Given the description of an element on the screen output the (x, y) to click on. 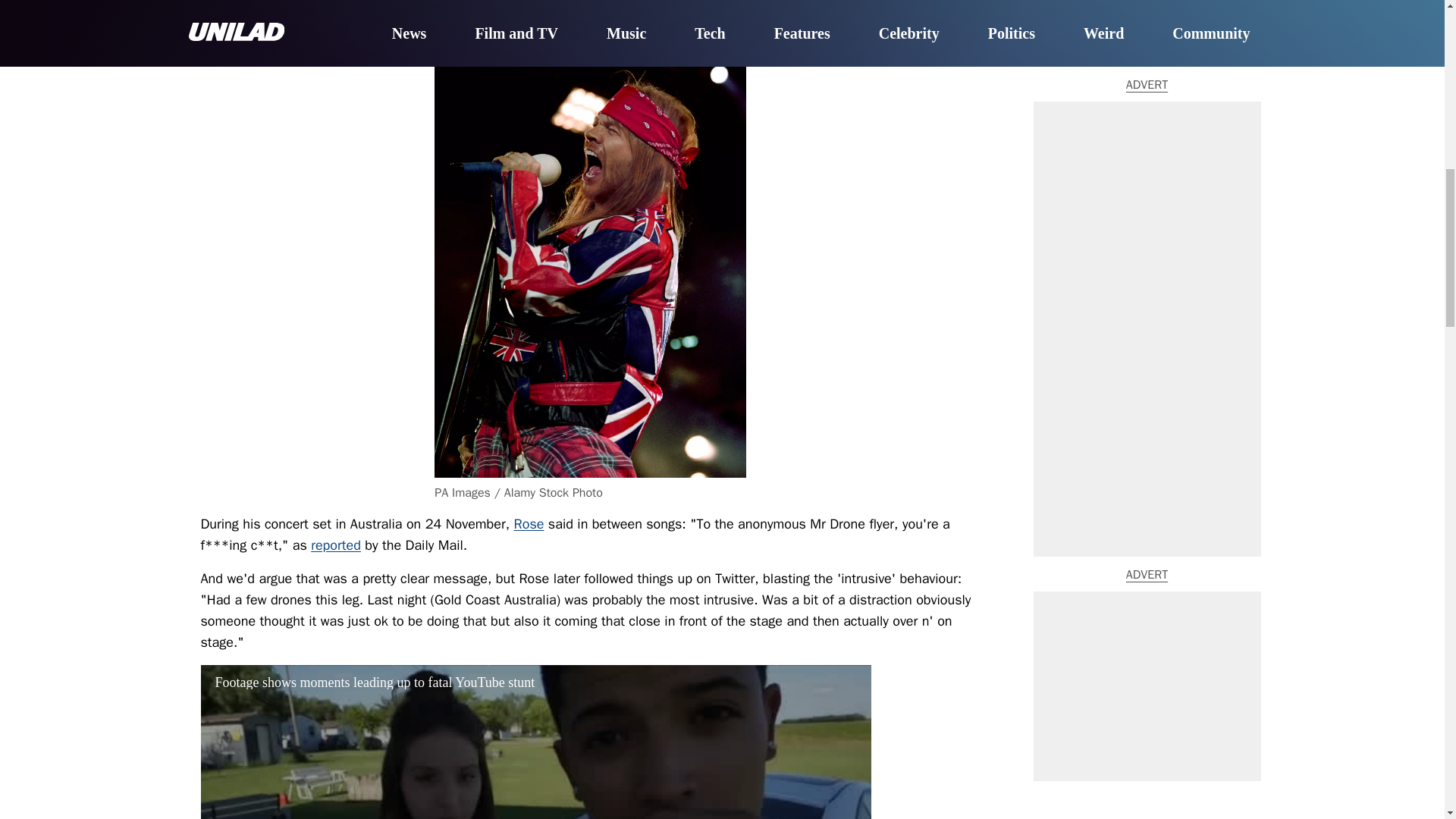
reported (336, 545)
3rd party ad content (1146, 93)
Rose (528, 523)
